Given the description of an element on the screen output the (x, y) to click on. 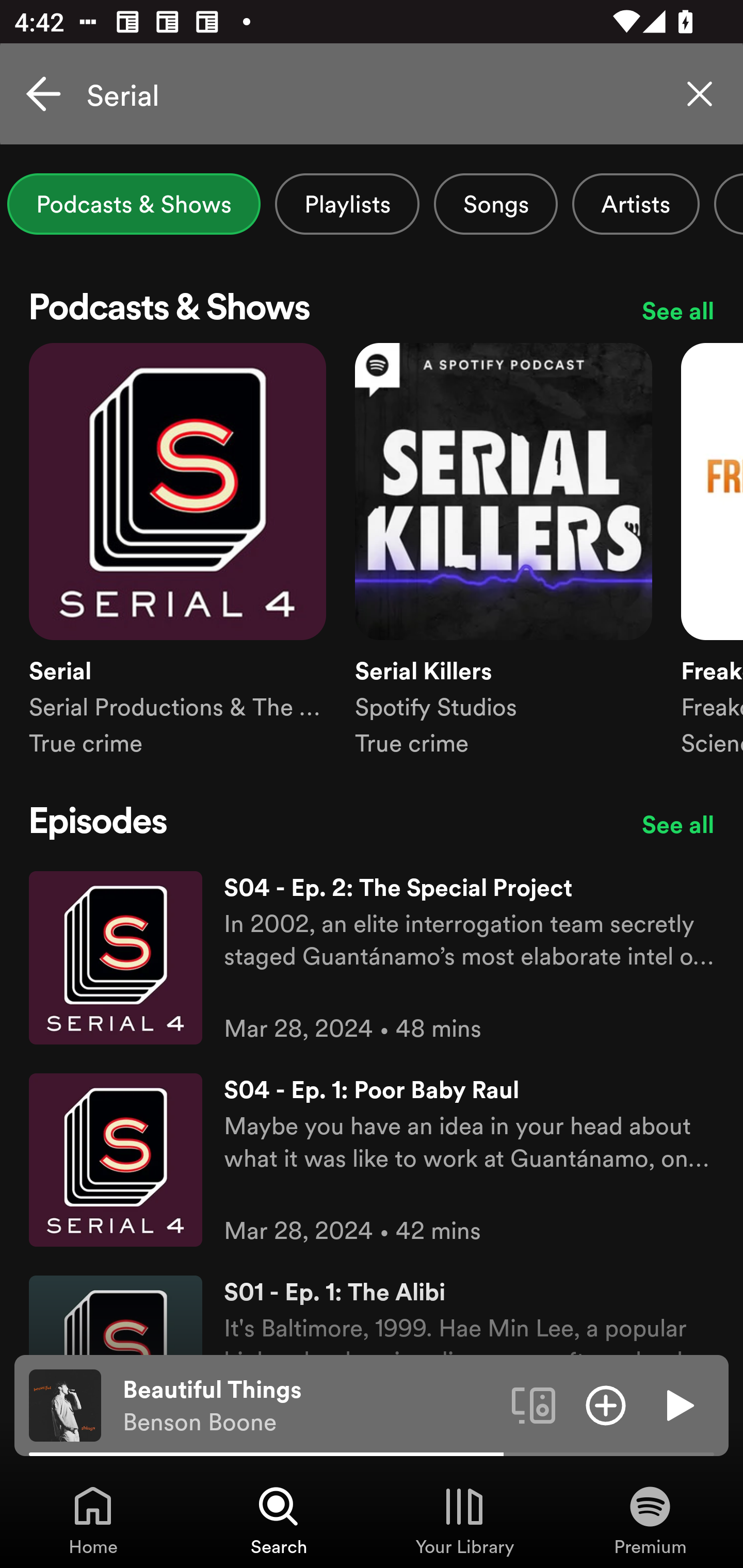
Serial (371, 93)
Cancel (43, 93)
Clear search query (699, 93)
Podcasts & Shows (133, 203)
Playlists (346, 203)
Songs (495, 203)
Artists (635, 203)
Podcasts & Shows See all (371, 310)
Serial Killers Spotify Studios True crime (503, 567)
Episodes See all (371, 823)
Beautiful Things Benson Boone (309, 1405)
The cover art of the currently playing track (64, 1404)
Connect to a device. Opens the devices menu (533, 1404)
Add item (605, 1404)
Play (677, 1404)
Home, Tab 1 of 4 Home Home (92, 1519)
Search, Tab 2 of 4 Search Search (278, 1519)
Your Library, Tab 3 of 4 Your Library Your Library (464, 1519)
Premium, Tab 4 of 4 Premium Premium (650, 1519)
